Given the description of an element on the screen output the (x, y) to click on. 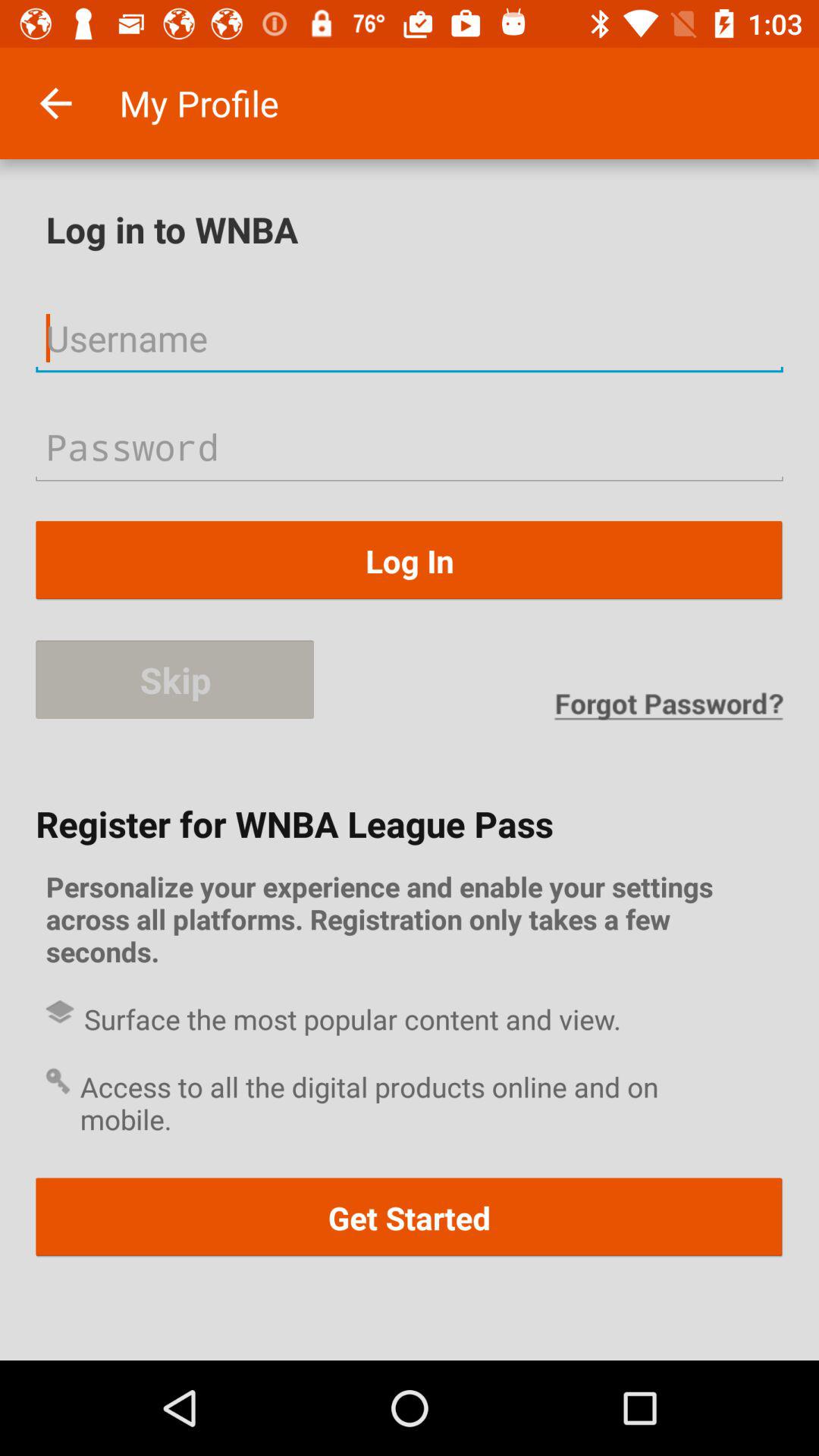
tap item to the right of skip (668, 706)
